Given the description of an element on the screen output the (x, y) to click on. 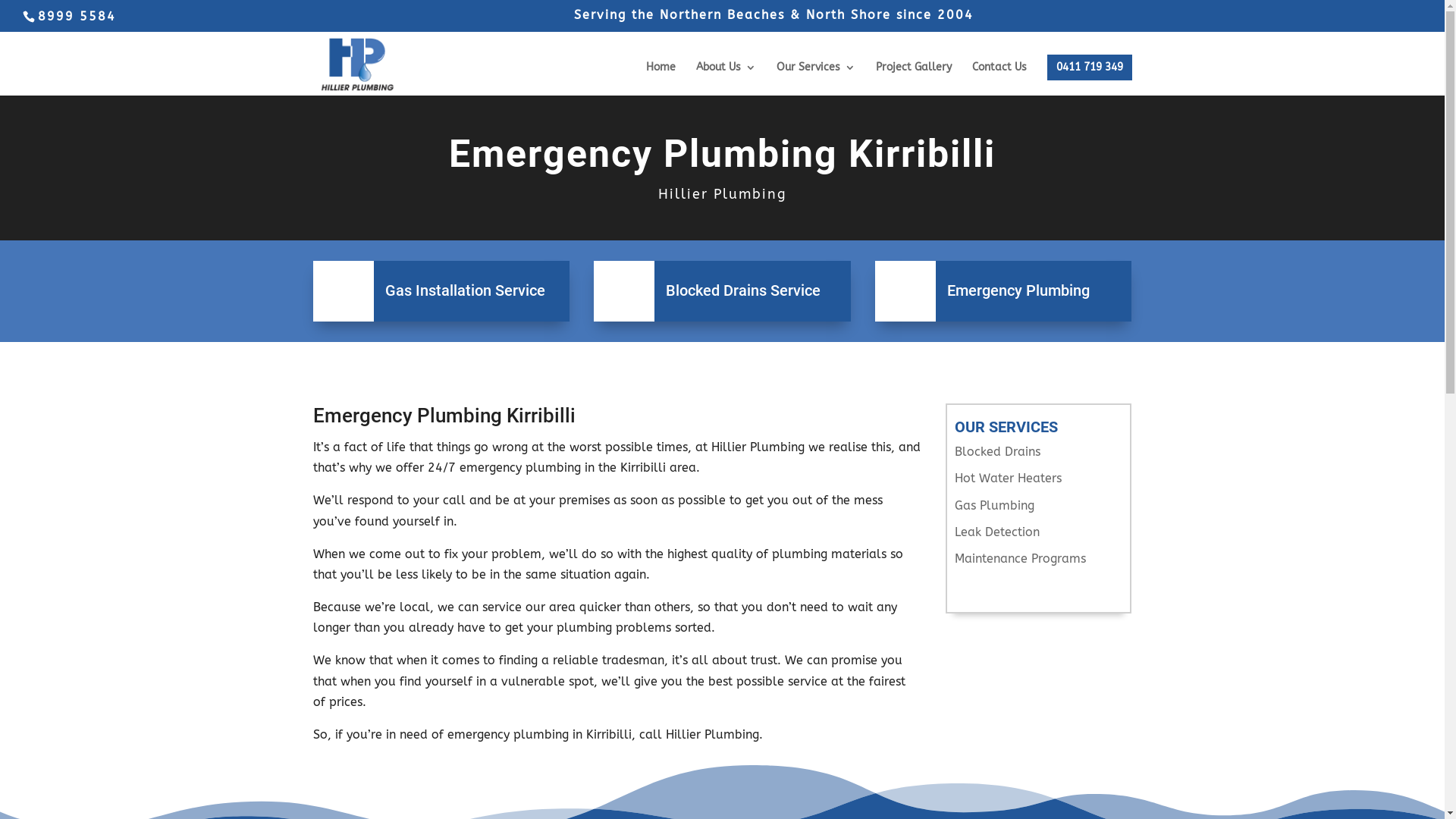
Home Element type: text (660, 78)
Gas Plumbing Element type: text (994, 505)
Maintenance Programs Element type: text (1019, 558)
Project Gallery Element type: text (912, 78)
Our Services Element type: text (815, 78)
Leak Detection Element type: text (996, 531)
Contact Us Element type: text (999, 78)
Hot Water Heaters Element type: text (1007, 477)
0411 719 349 Element type: text (1088, 67)
Serving the Northern Beaches & North Shore since 2004 Element type: text (773, 19)
About Us Element type: text (726, 78)
Blocked Drains Element type: text (997, 451)
